Given the description of an element on the screen output the (x, y) to click on. 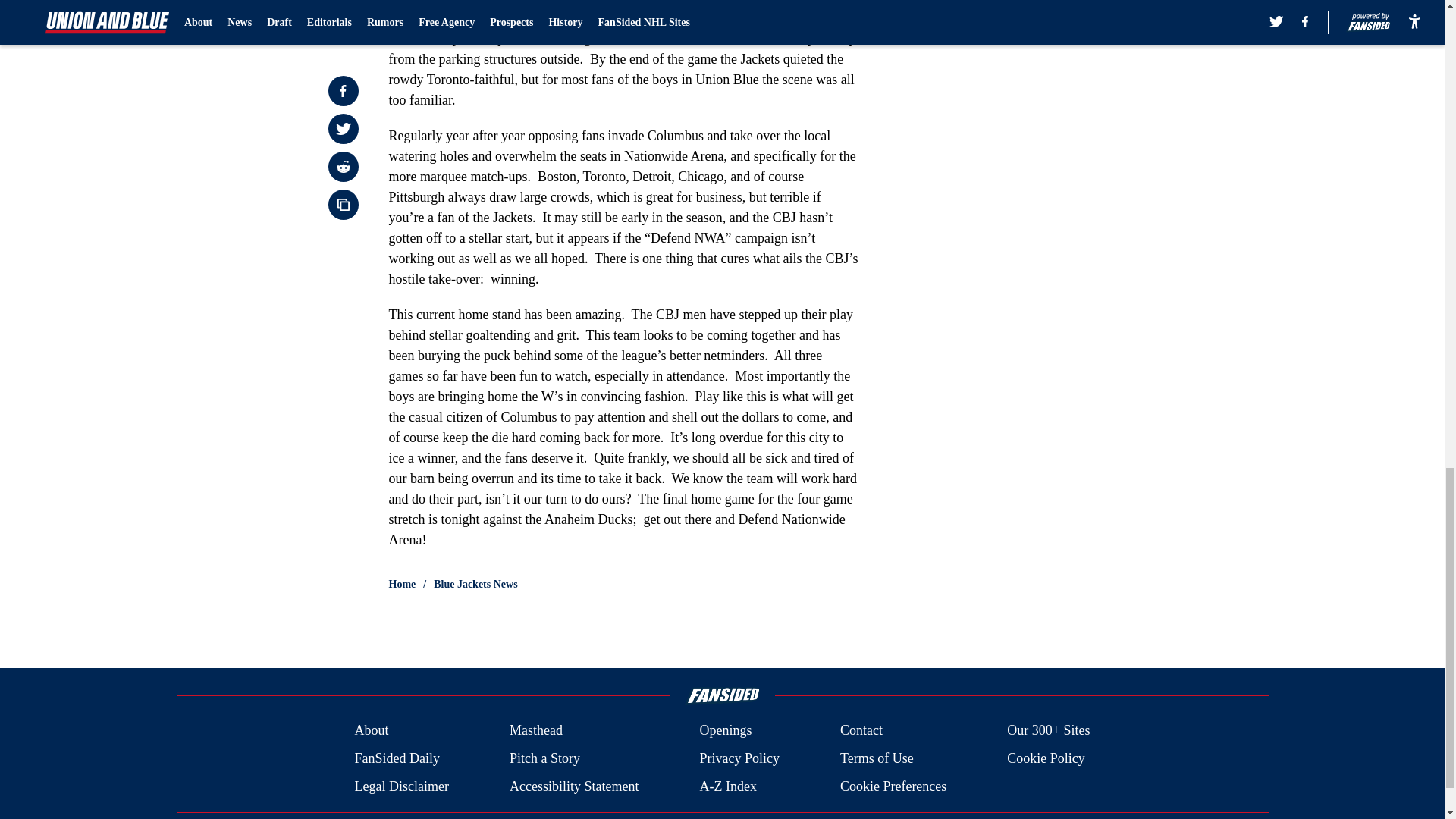
Privacy Policy (738, 758)
Blue Jackets News (474, 584)
Accessibility Statement (574, 786)
Masthead (535, 730)
Contact (861, 730)
Terms of Use (877, 758)
FanSided Daily (396, 758)
Openings (724, 730)
A-Z Index (726, 786)
Pitch a Story (544, 758)
